Given the description of an element on the screen output the (x, y) to click on. 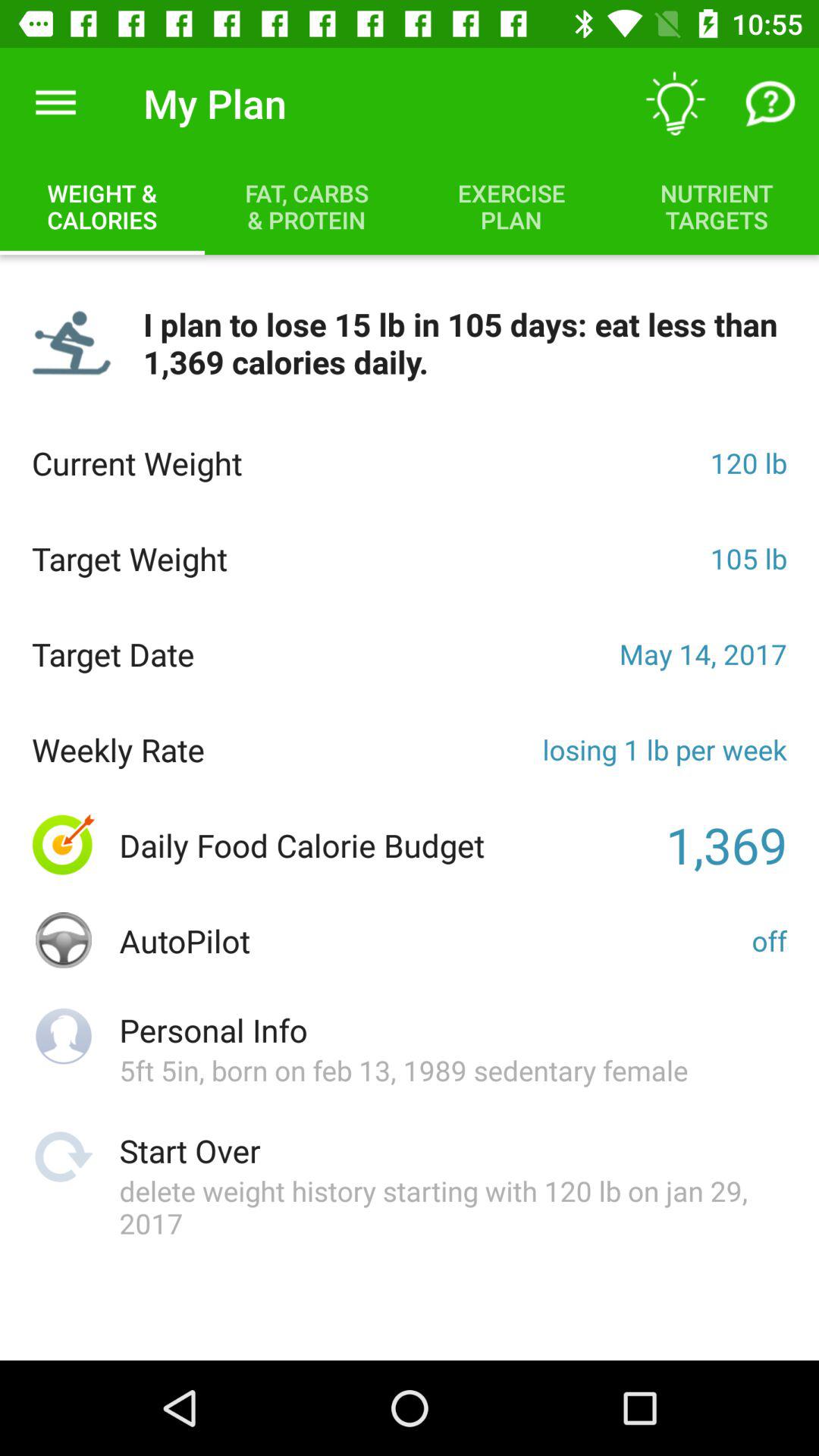
choose the item above the nutrient
targets item (771, 103)
